Given the description of an element on the screen output the (x, y) to click on. 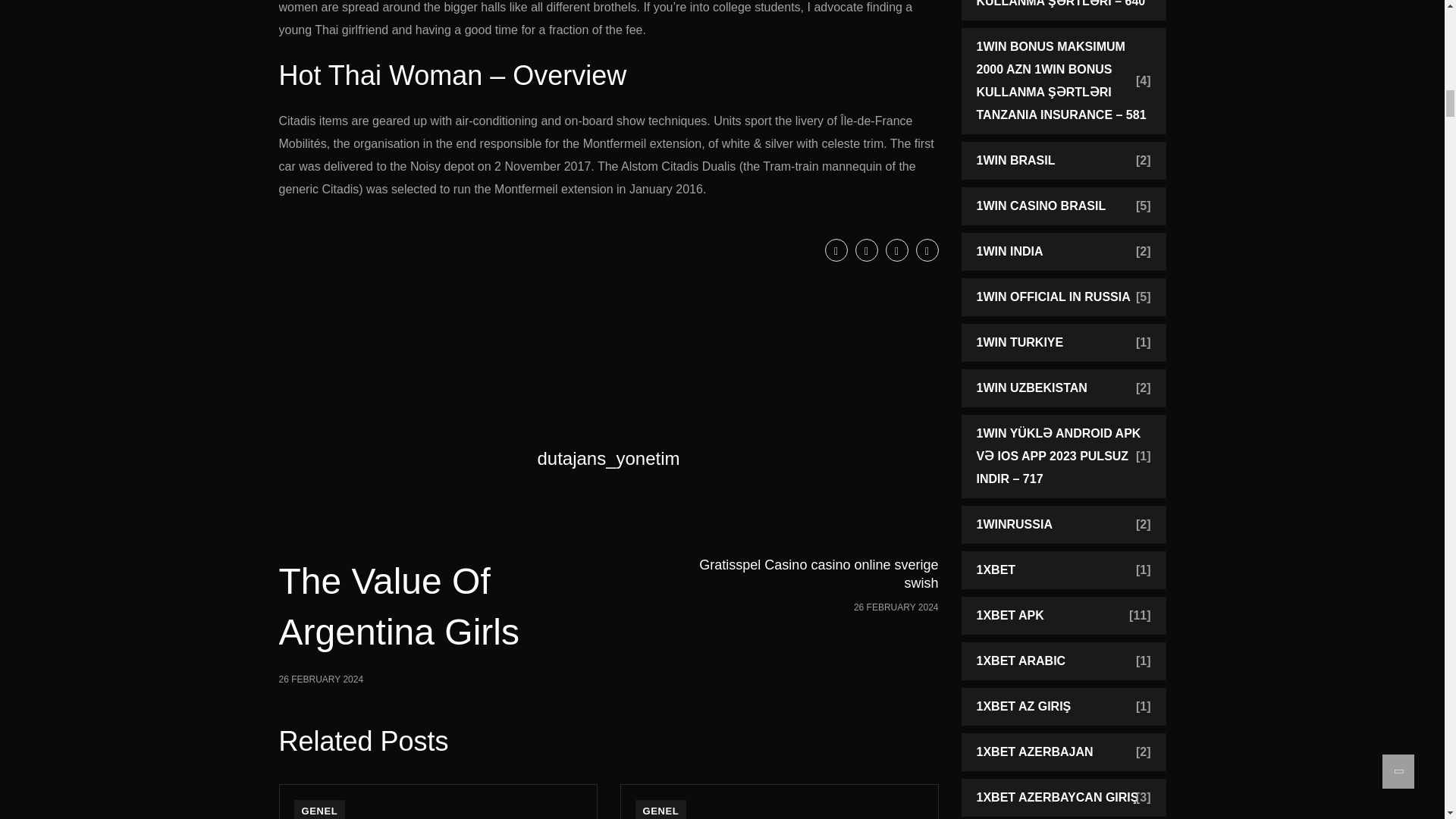
Facebook (866, 250)
Pinterest (392, 620)
GENEL (896, 250)
Twitter (660, 809)
GENEL (836, 250)
LinkedIn (320, 809)
